Given the description of an element on the screen output the (x, y) to click on. 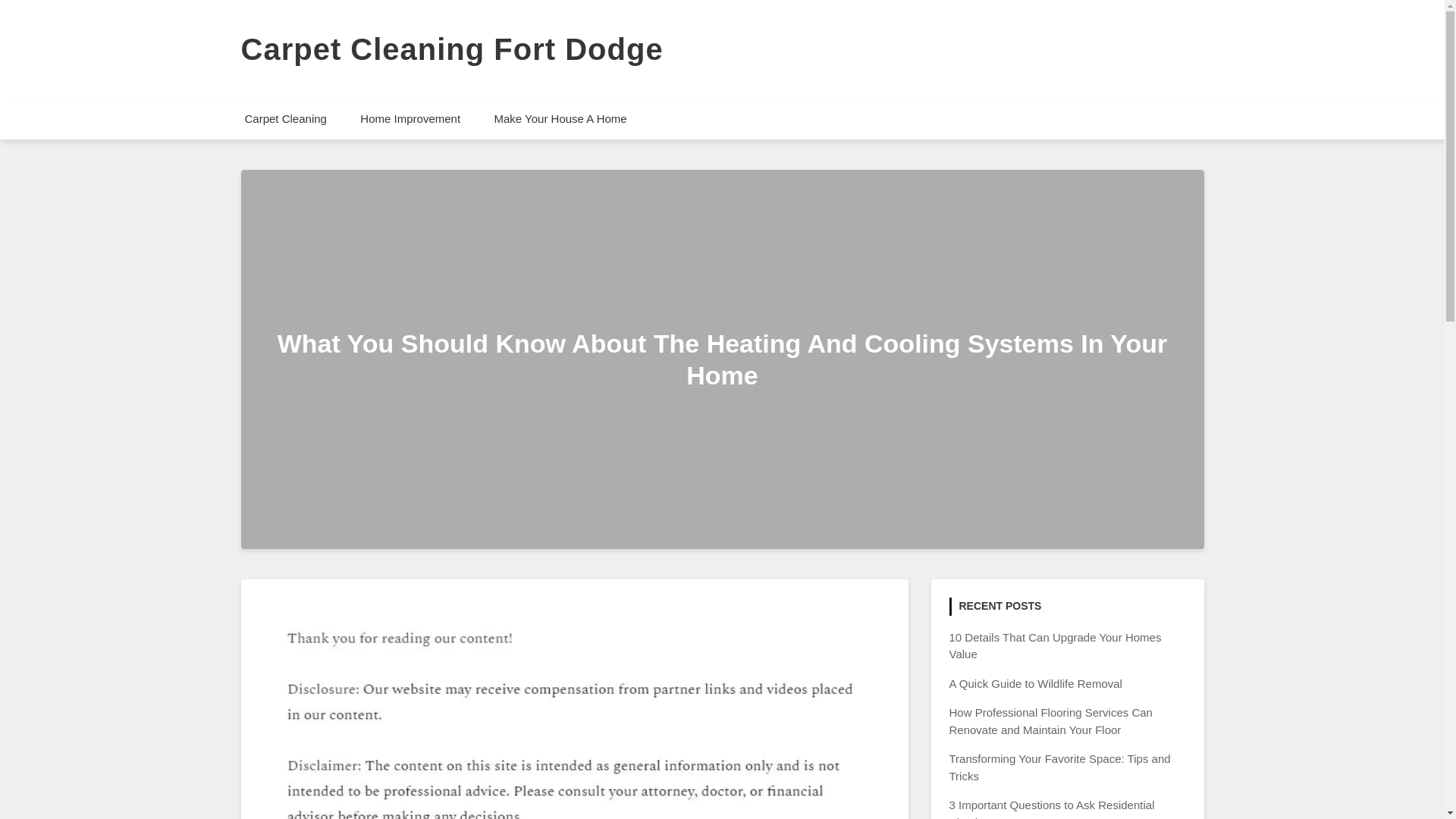
Carpet Cleaning (284, 118)
10 Details That Can Upgrade Your Homes Value (1055, 645)
Make Your House A Home (560, 118)
Home Improvement (410, 118)
3 Important Questions to Ask Residential Plumbers (1051, 808)
Carpet Cleaning Fort Dodge (452, 49)
Transforming Your Favorite Space: Tips and Tricks (1059, 767)
A Quick Guide to Wildlife Removal (1035, 683)
